Given the description of an element on the screen output the (x, y) to click on. 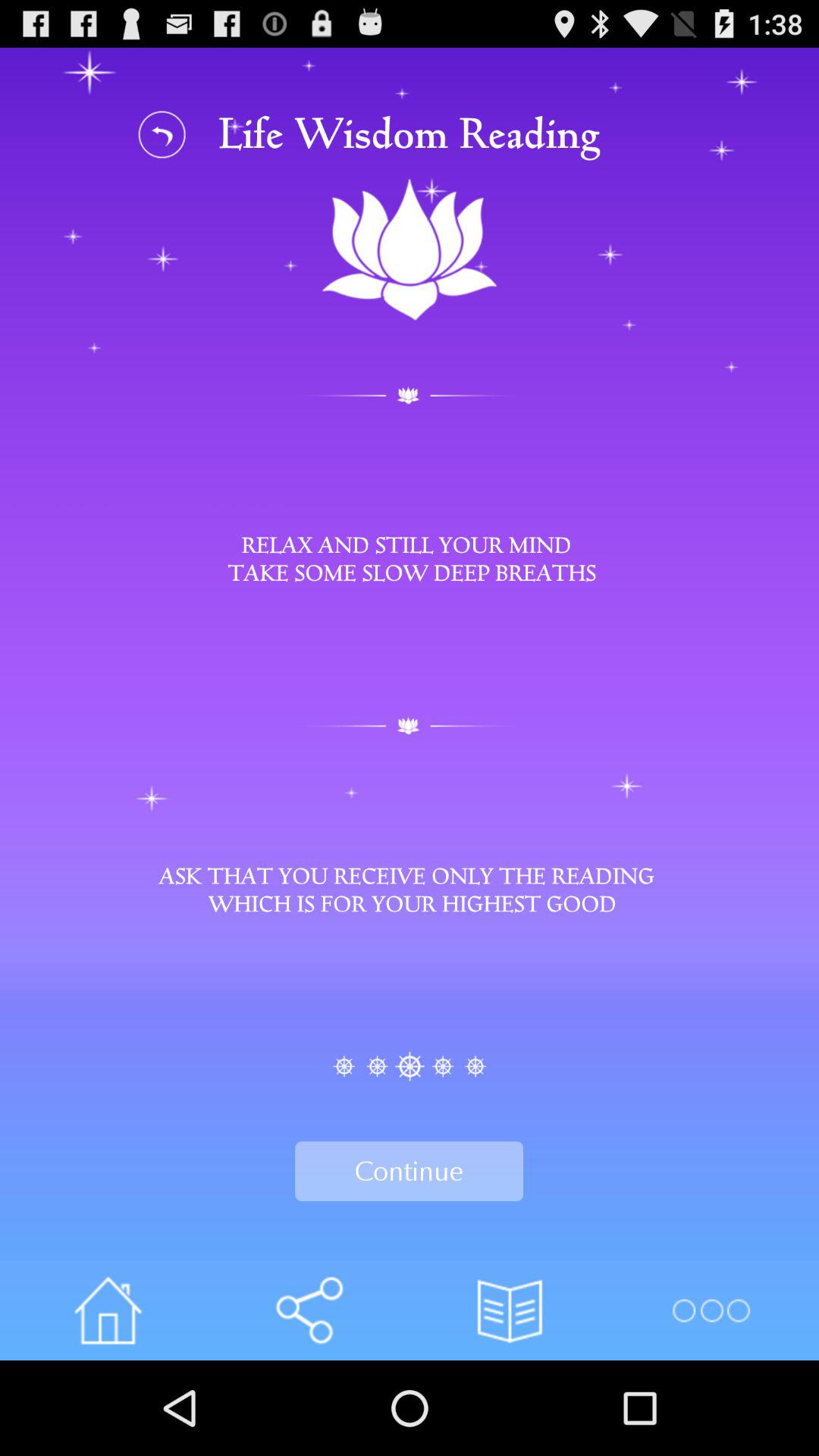
main menu (710, 1310)
